Given the description of an element on the screen output the (x, y) to click on. 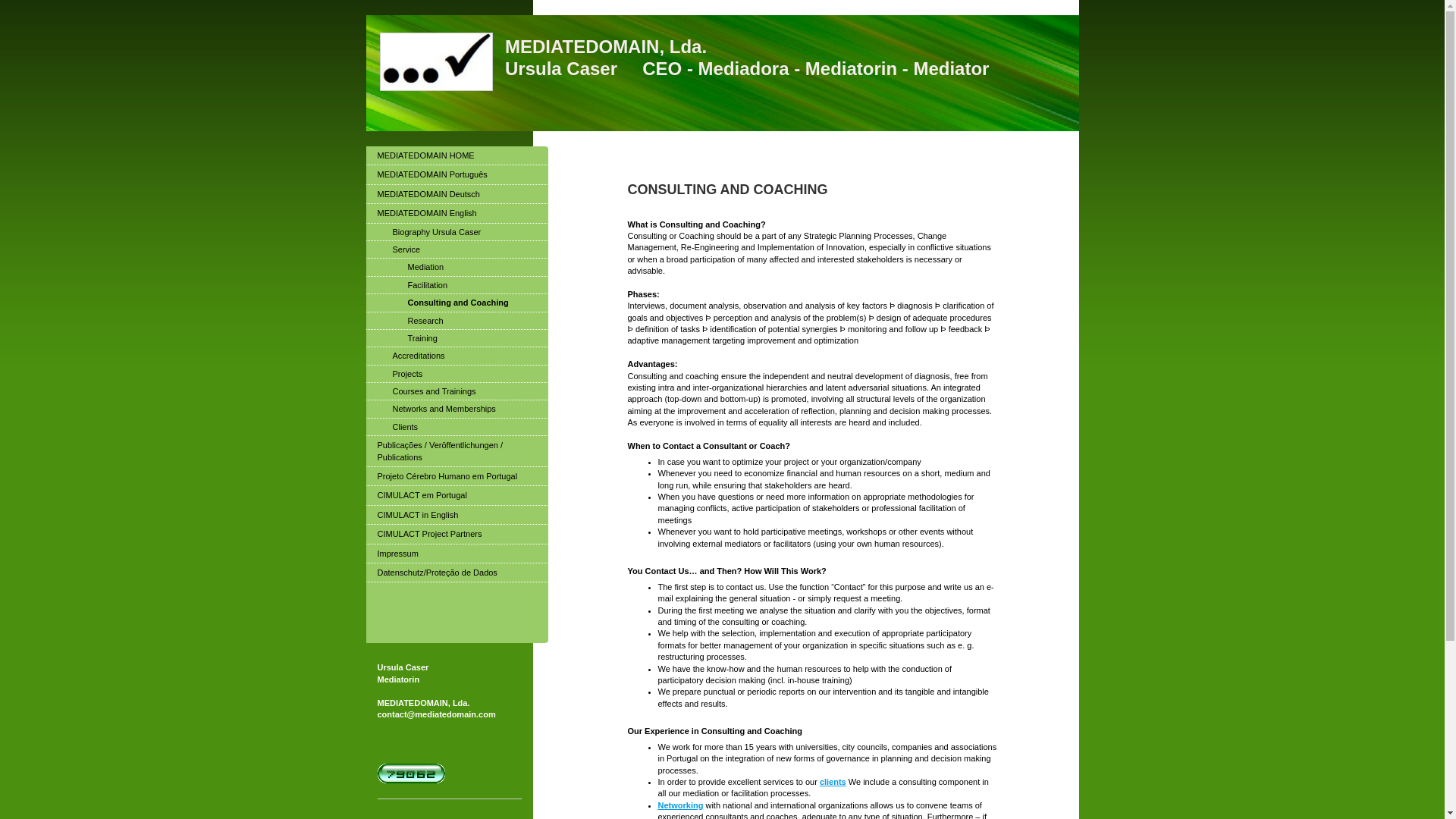
MEDIATEDOMAIN HOME (456, 155)
CIMULACT in English (456, 515)
Training (456, 338)
CIMULACT Project Partners (456, 533)
Projects (456, 374)
Clients (456, 426)
Networks and Memberships (456, 408)
Mediation (456, 267)
Consulting and Coaching (456, 303)
Accreditations (456, 355)
Impressum (456, 553)
Service (456, 249)
Biography Ursula Caser (456, 231)
Networking (680, 804)
